Given the description of an element on the screen output the (x, y) to click on. 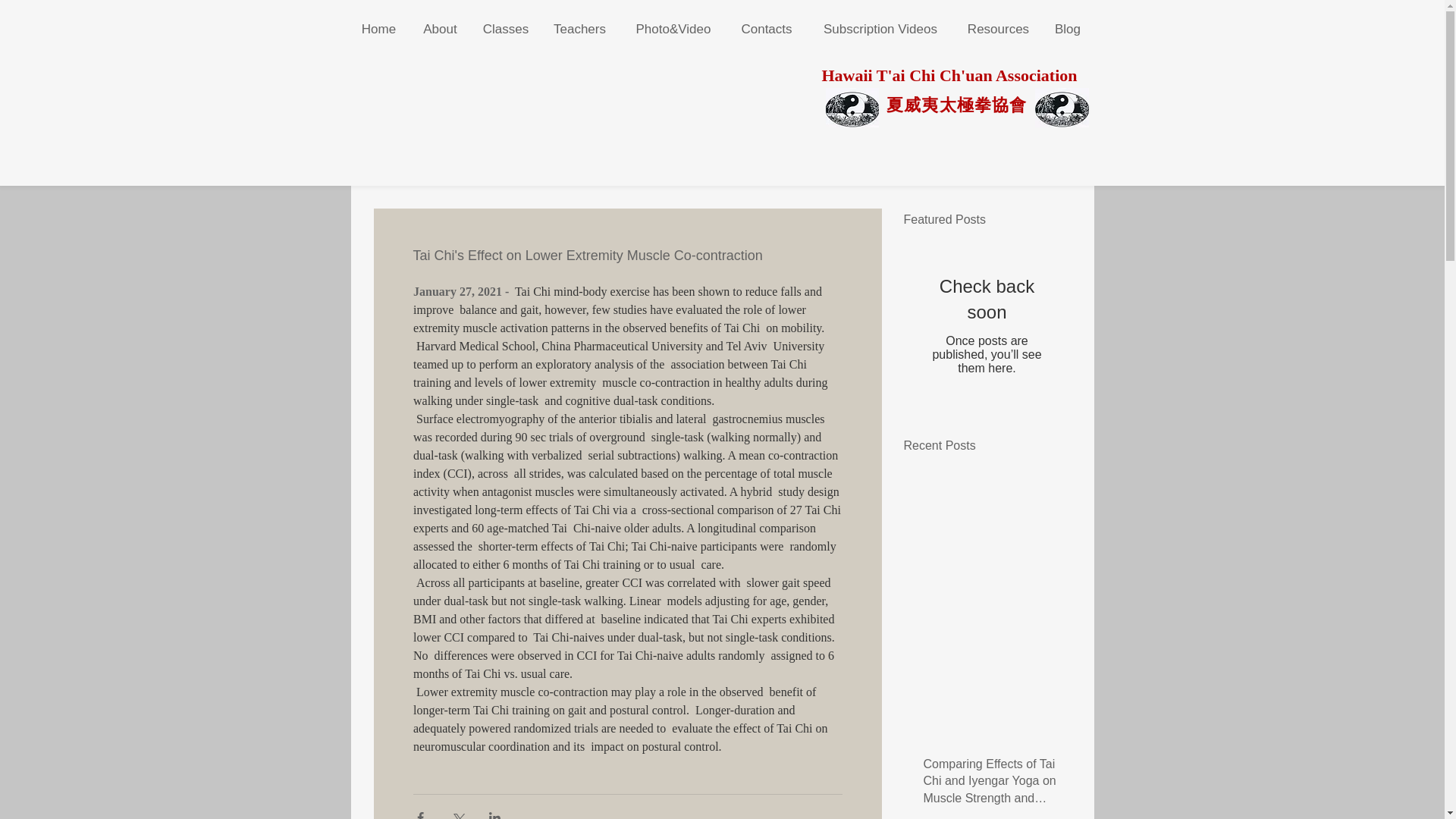
Home (379, 29)
About (440, 29)
Blog (1068, 29)
Resources (998, 29)
Contacts (767, 29)
Hawaii T'ai Chi Ch'uan Association (949, 75)
Teachers (579, 29)
Classes (505, 29)
Edited Image 2016-02-09 04-12-05 (1060, 107)
Subscription Videos (880, 29)
